Given the description of an element on the screen output the (x, y) to click on. 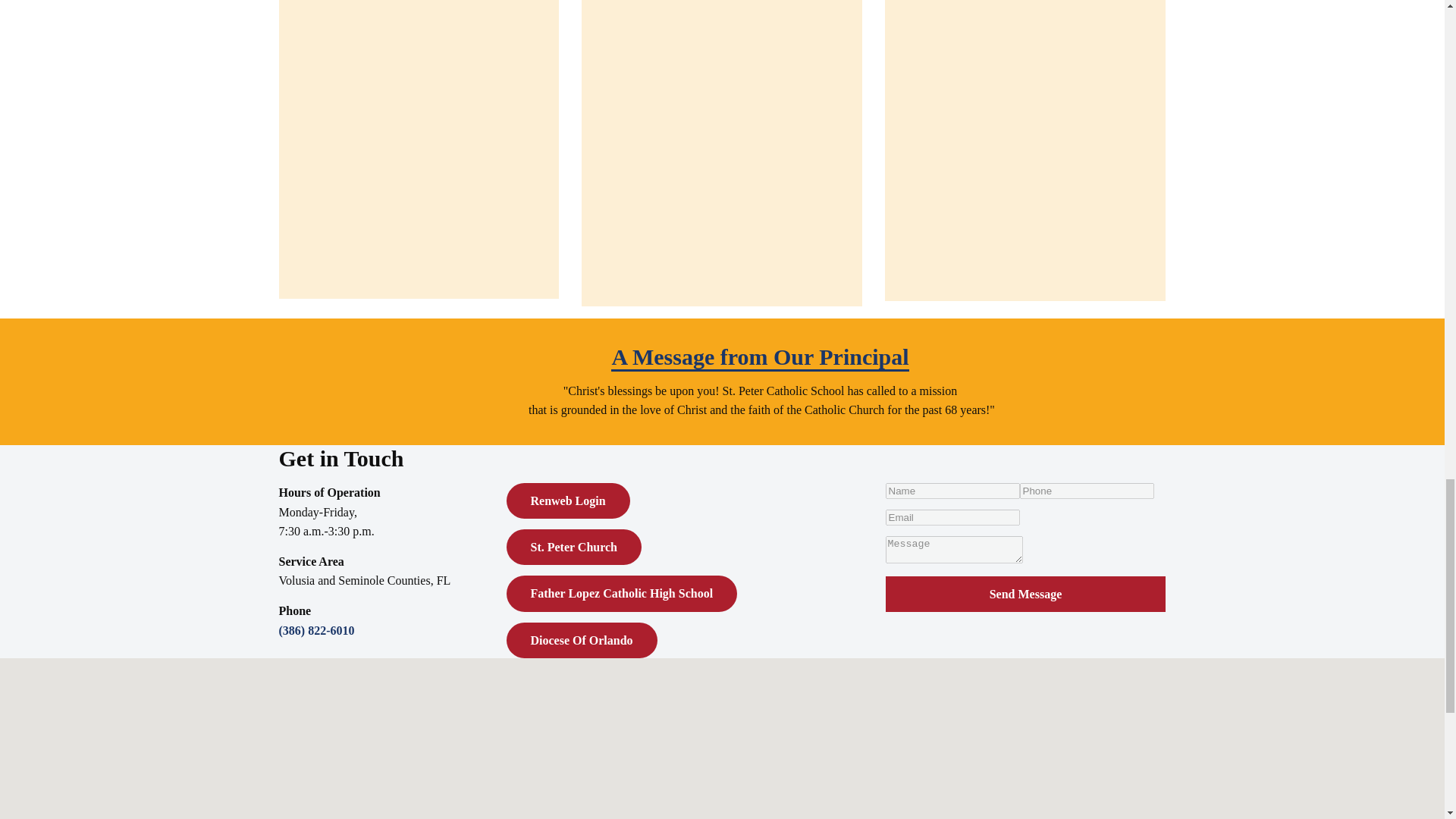
Father Lopez Catholic High School (622, 592)
St. Peter Church (574, 547)
A Message from Our Principal (759, 357)
Diocese Of Orlando (582, 640)
Renweb Login (568, 500)
Send Message (1025, 593)
